Given the description of an element on the screen output the (x, y) to click on. 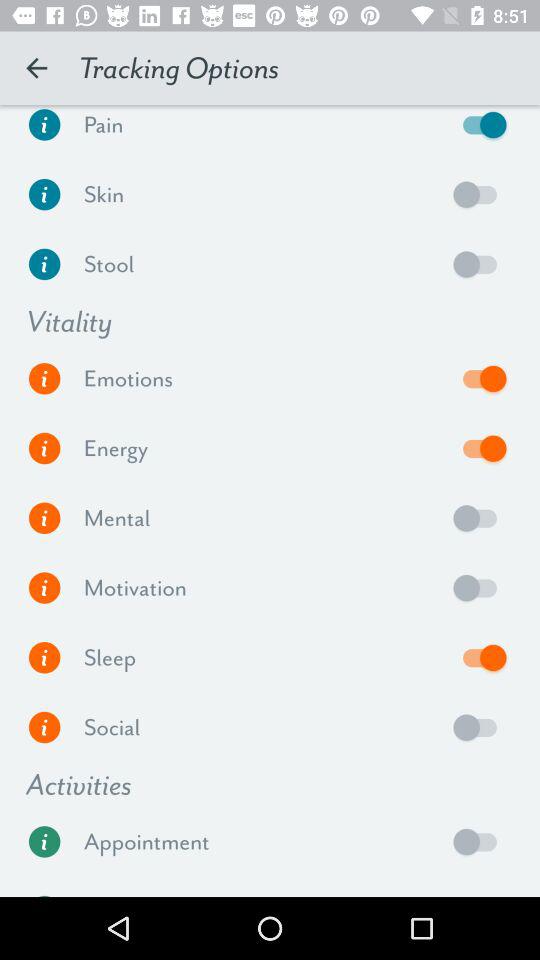
find more information (44, 517)
